Given the description of an element on the screen output the (x, y) to click on. 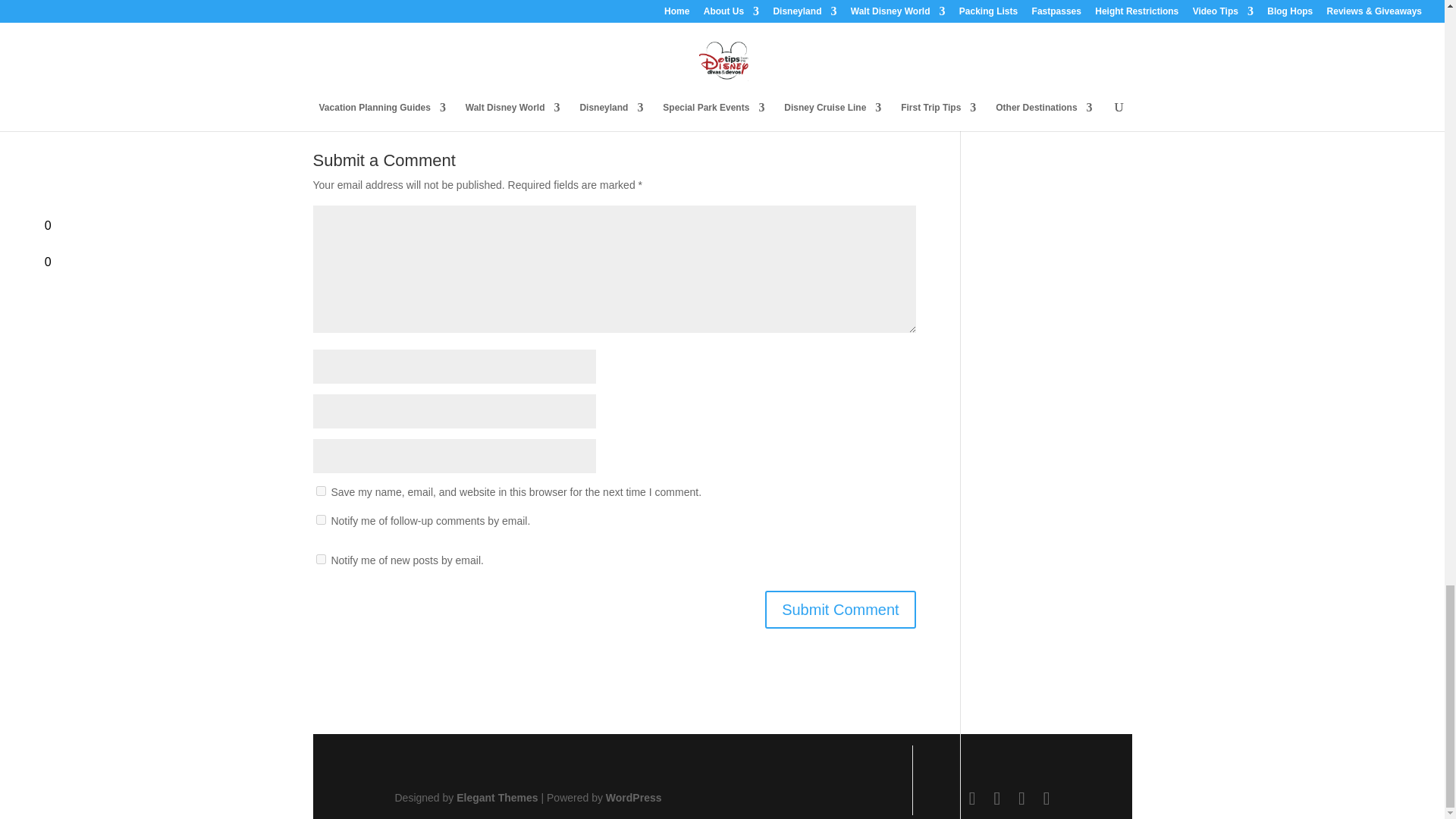
subscribe (319, 519)
yes (319, 491)
subscribe (319, 559)
A Sneak Peek of Cars Land at Disney California Adventure (471, 5)
Submit Comment (840, 609)
